Given the description of an element on the screen output the (x, y) to click on. 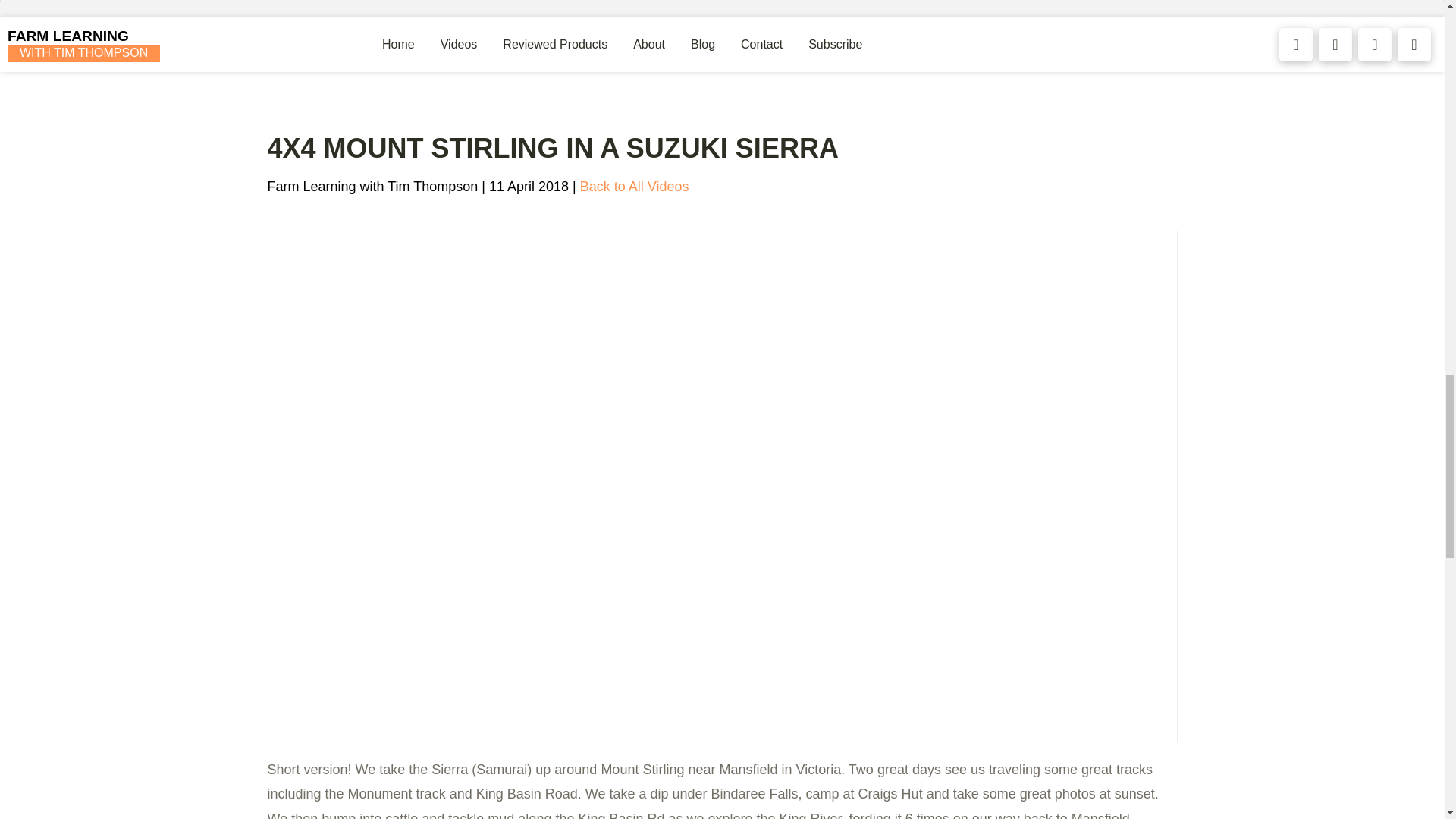
Contact (761, 44)
Subscribe (834, 44)
Videos (459, 44)
About (649, 44)
Reviewed Products (554, 44)
Blog (703, 44)
Back to All Videos (633, 186)
Home (83, 44)
